Given the description of an element on the screen output the (x, y) to click on. 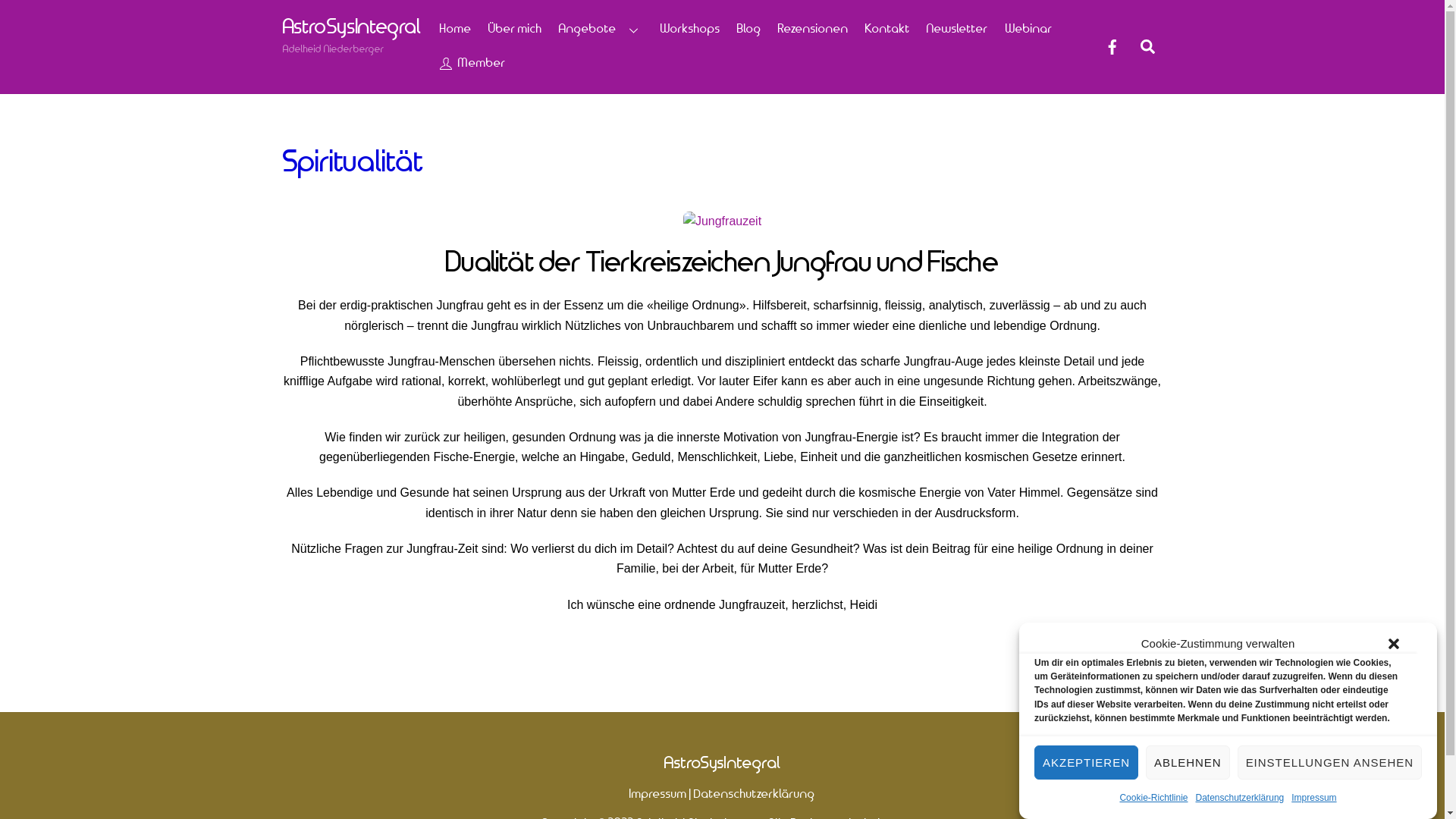
Blog Element type: text (748, 29)
AstroSysIntegral Element type: text (351, 27)
Angebote Element type: text (600, 29)
Webinar Element type: text (1028, 29)
ABLEHNEN Element type: text (1187, 763)
Workshops Element type: text (689, 29)
Newsletter Element type: text (957, 29)
AKZEPTIEREN Element type: text (1086, 763)
Cookie-Richtlinie Element type: text (1153, 797)
EINSTELLUNGEN ANSEHEN Element type: text (1329, 763)
Impressum Element type: text (1313, 797)
Home Element type: text (455, 29)
Impressum | Element type: text (661, 794)
Jungfrauzeit Element type: hover (722, 221)
Search Element type: text (1147, 46)
AstroSysIntegral Element type: text (722, 763)
Rezensionen Element type: text (812, 29)
Kontakt Element type: text (887, 29)
Member Element type: text (472, 64)
